Given the description of an element on the screen output the (x, y) to click on. 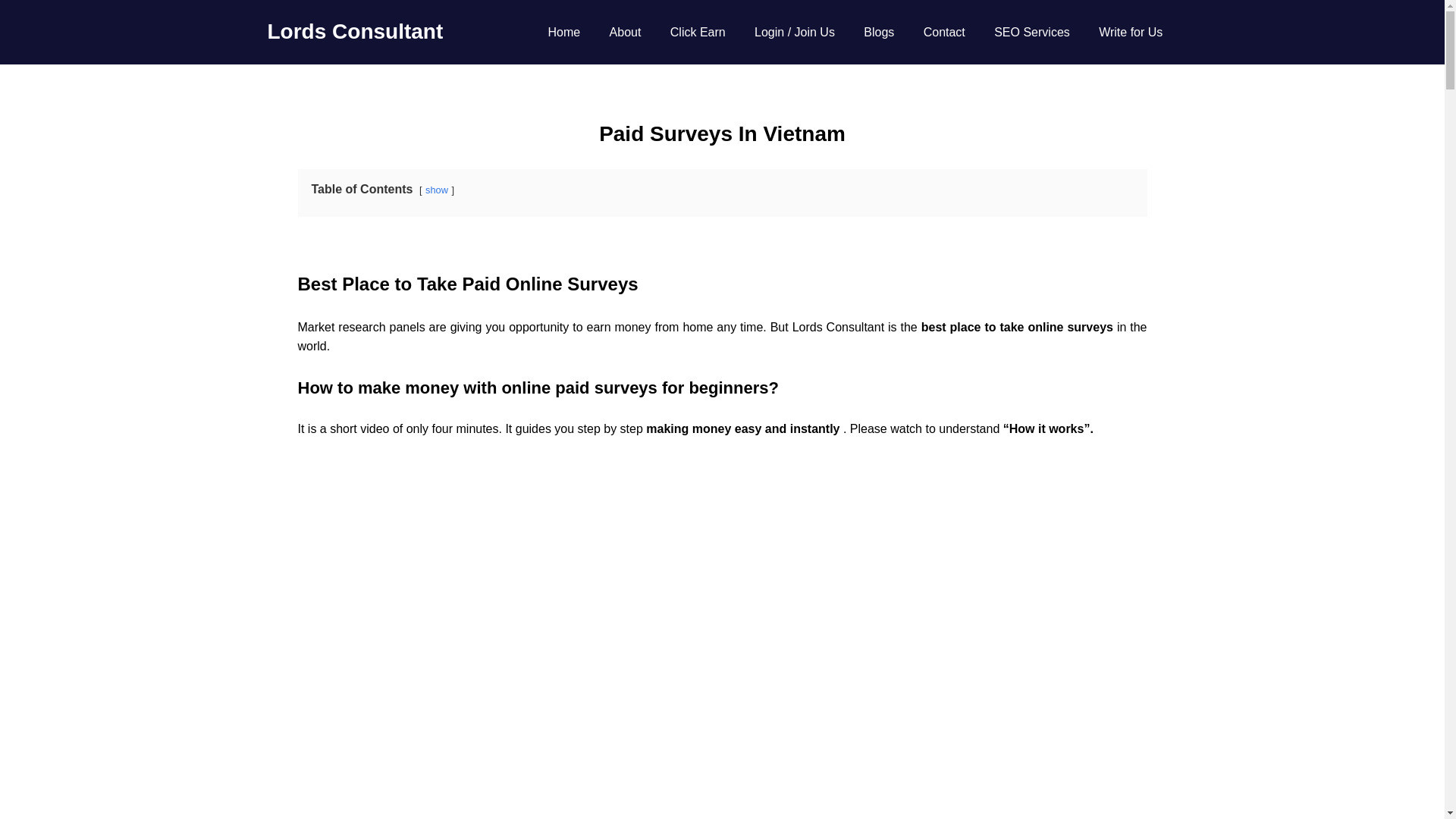
Write for Us (1130, 32)
Home (563, 32)
Blogs (878, 32)
Lords Consultant (354, 31)
Contact (943, 32)
Click Earn (697, 32)
About (624, 32)
SEO Services (1031, 32)
show (436, 189)
